Given the description of an element on the screen output the (x, y) to click on. 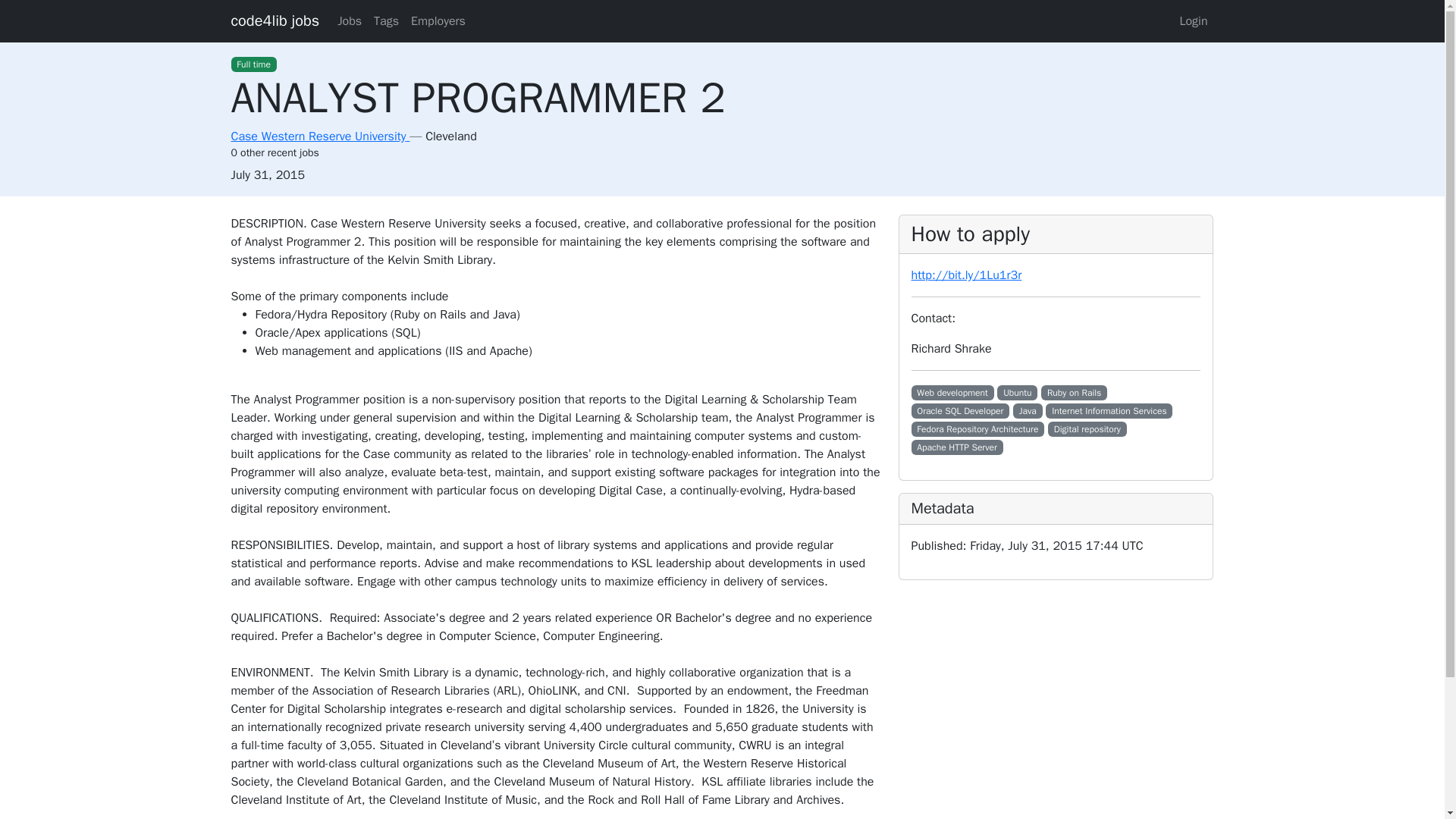
Full time (253, 64)
Web development (952, 392)
Login (1192, 20)
Employers (437, 20)
Case Western Reserve University (319, 136)
Jobs (349, 20)
Internet Information Services (1108, 410)
Ruby on Rails (1073, 392)
Tags (386, 20)
Java (1027, 410)
Digital repository (1087, 428)
Oracle SQL Developer (960, 410)
Fedora Repository Architecture (978, 428)
Ubuntu (1016, 392)
Apache HTTP Server (957, 447)
